Given the description of an element on the screen output the (x, y) to click on. 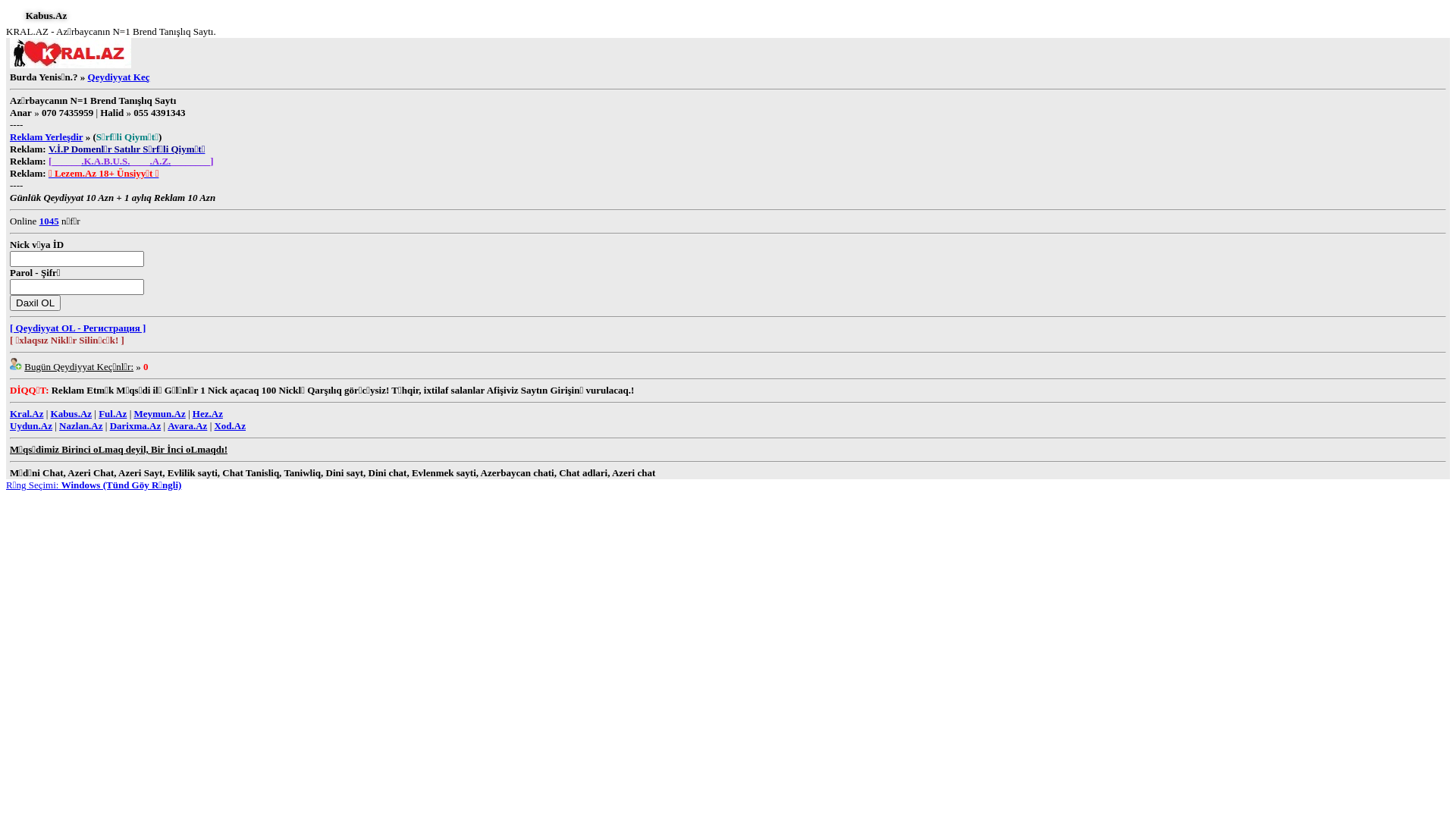
Nazlan.Az Element type: text (80, 425)
Meymun.Az Element type: text (159, 413)
Kabus.Az Element type: text (71, 413)
Darixma.Az Element type: text (135, 425)
Avara.Az Element type: text (187, 425)
Hez.Az Element type: text (207, 413)
Kral.Az Element type: text (26, 413)
[______.K.A.B.U.S.____.A.Z.________] Element type: text (130, 160)
Mesajlar Element type: hover (108, 16)
055 4391343 Element type: text (159, 112)
Parol Element type: hover (76, 286)
Qonaqlar Element type: hover (138, 16)
nick Element type: hover (76, 258)
Xod.Az Element type: text (229, 425)
Daxil OL Element type: text (34, 302)
Ful.Az Element type: text (112, 413)
Bildirisler Element type: hover (123, 16)
1045 Element type: text (49, 220)
Uydun.Az Element type: text (30, 425)
070 7435959 Element type: text (67, 112)
